Given the description of an element on the screen output the (x, y) to click on. 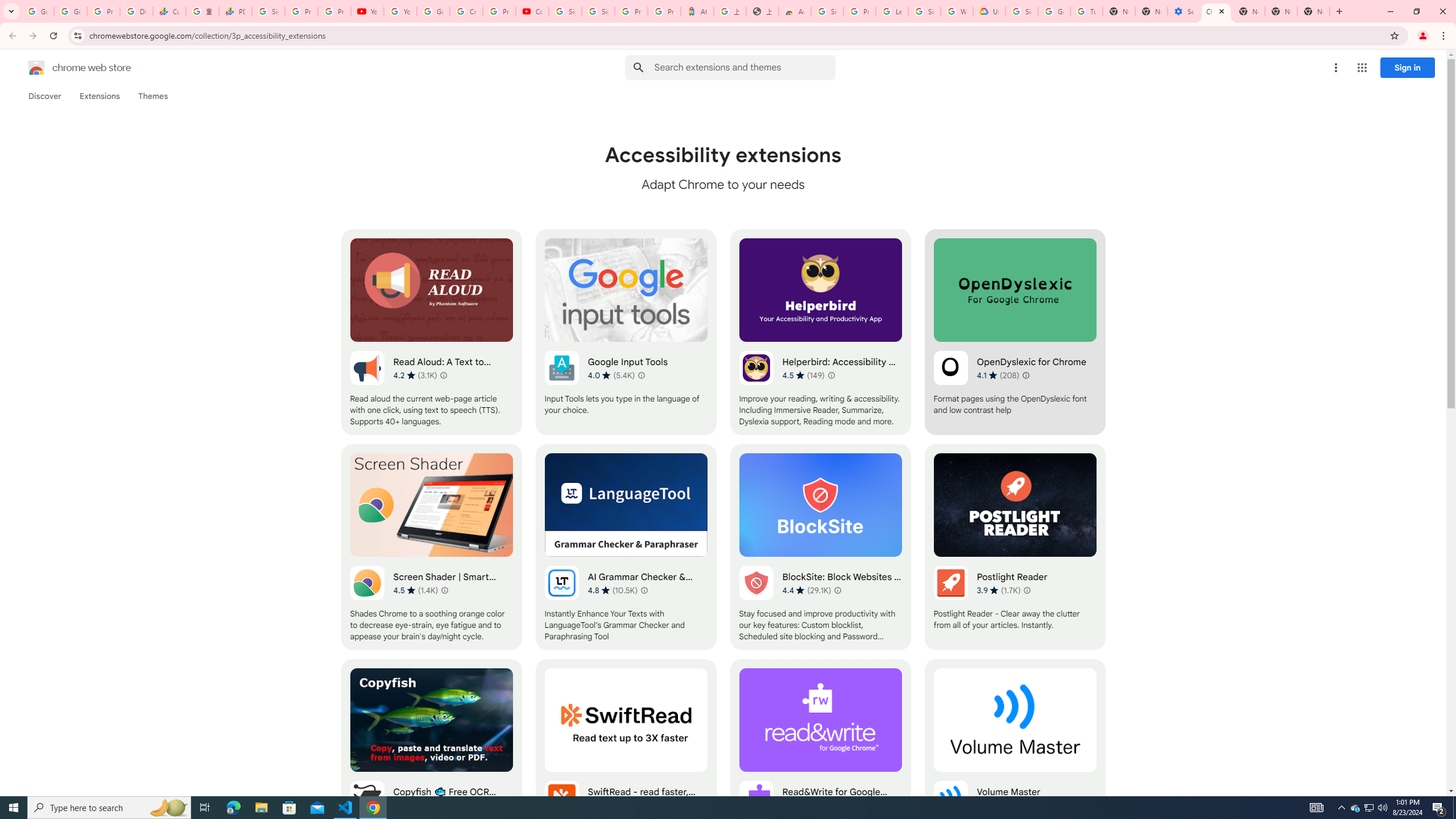
Turn cookies on or off - Computer - Google Account Help (1086, 11)
Postlight Reader (1014, 546)
PDD Holdings Inc - ADR (PDD) Price & News - Google Finance (235, 11)
Learn more about results and reviews "Google Input Tools" (641, 375)
Create your Google Account (465, 11)
Average rating 4.1 out of 5 stars. 208 ratings. (997, 375)
More options menu (1335, 67)
